Given the description of an element on the screen output the (x, y) to click on. 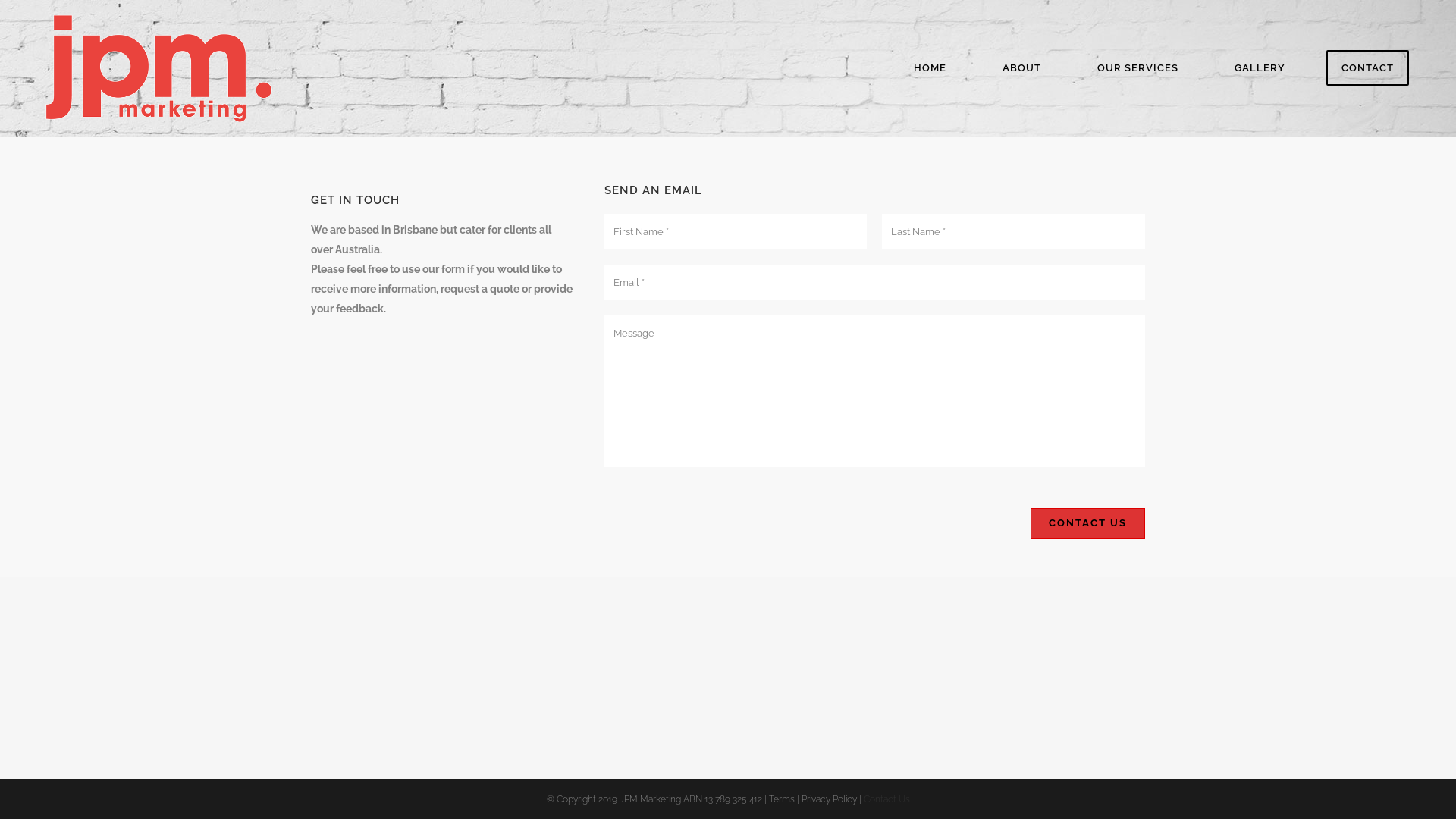
ABOUT Element type: text (1021, 68)
OUR SERVICES Element type: text (1137, 68)
HOME Element type: text (929, 68)
Contact Us Element type: text (885, 798)
GALLERY Element type: text (1259, 68)
CONTACT Element type: text (1367, 68)
Contact Us Element type: text (1087, 523)
